Given the description of an element on the screen output the (x, y) to click on. 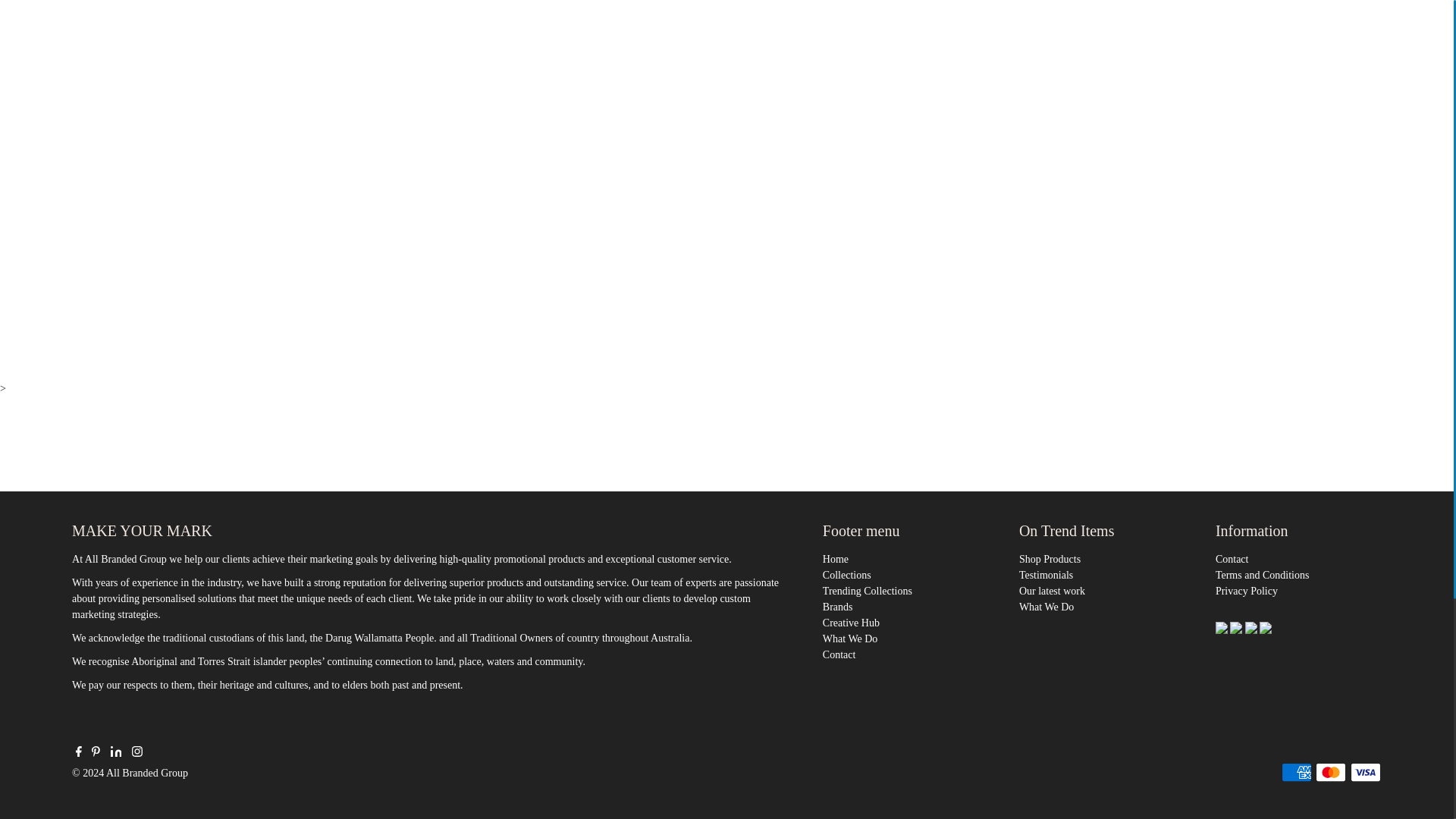
Visa (1365, 772)
American Express (1296, 772)
Mastercard (1330, 772)
